Given the description of an element on the screen output the (x, y) to click on. 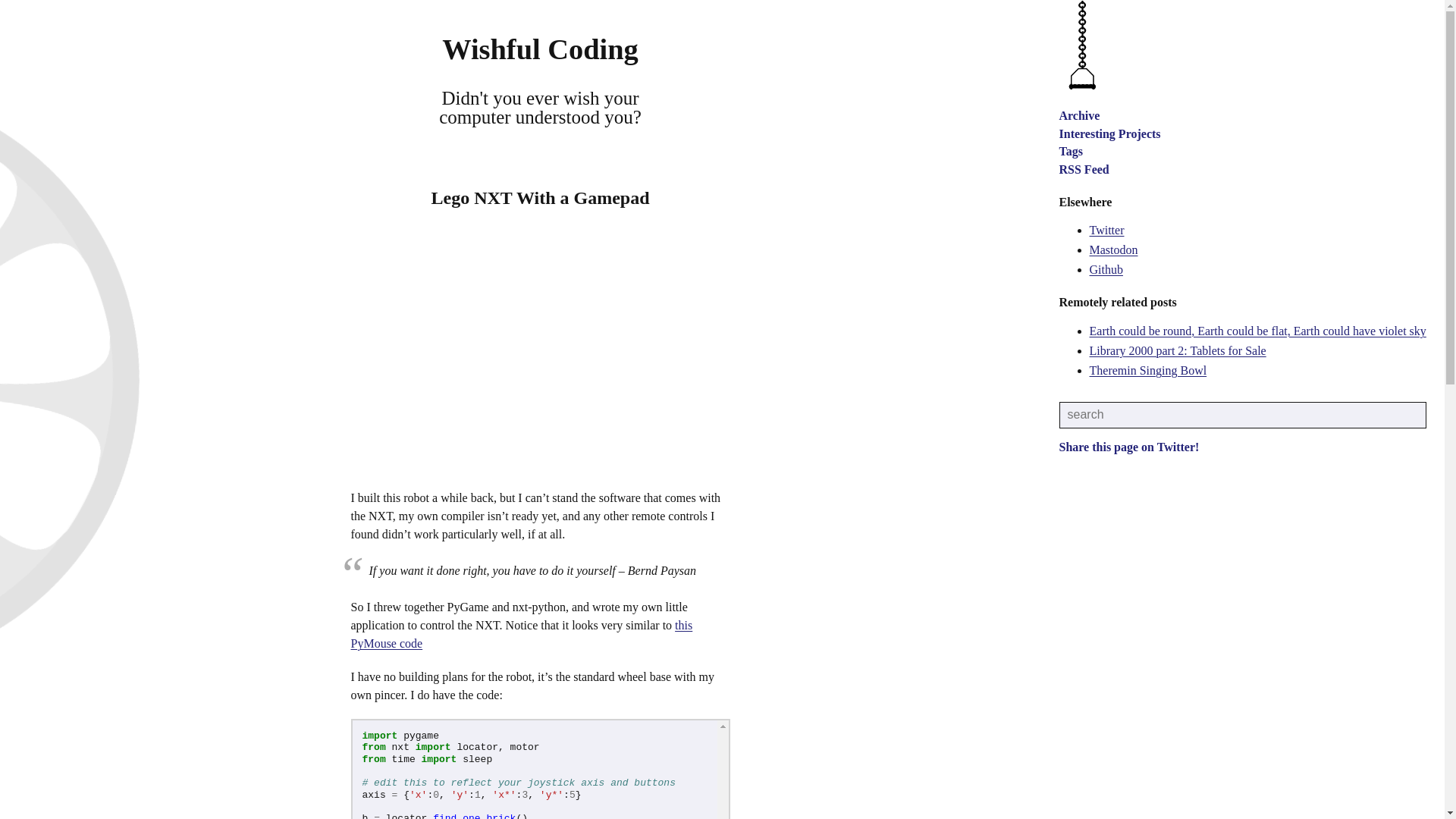
Lego NXT With a Gamepad (539, 198)
this PyMouse code (521, 634)
Wishful Coding (540, 49)
